Given the description of an element on the screen output the (x, y) to click on. 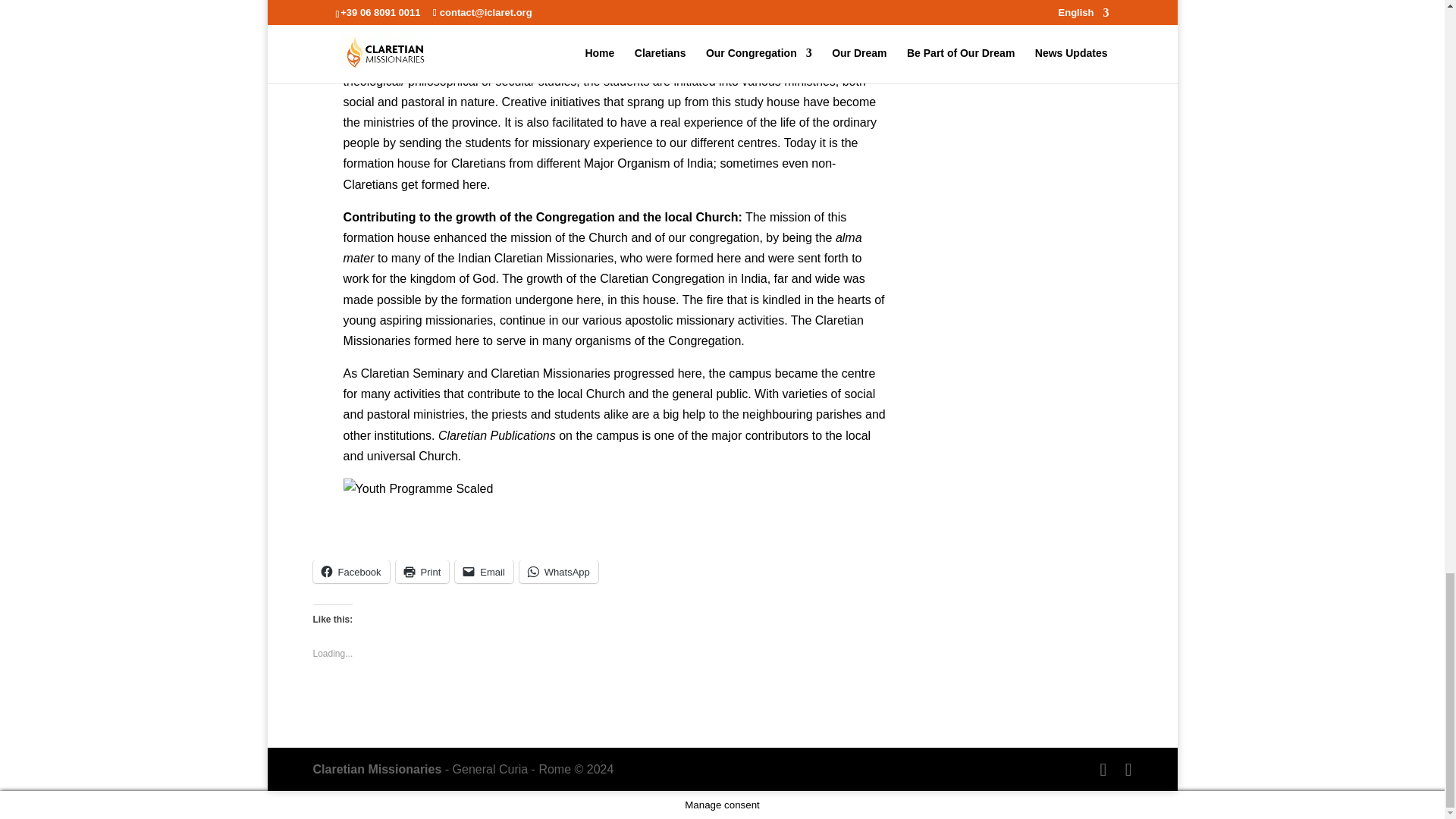
WhatsApp (558, 571)
Print (422, 571)
Email (483, 571)
Facebook (350, 571)
